Given the description of an element on the screen output the (x, y) to click on. 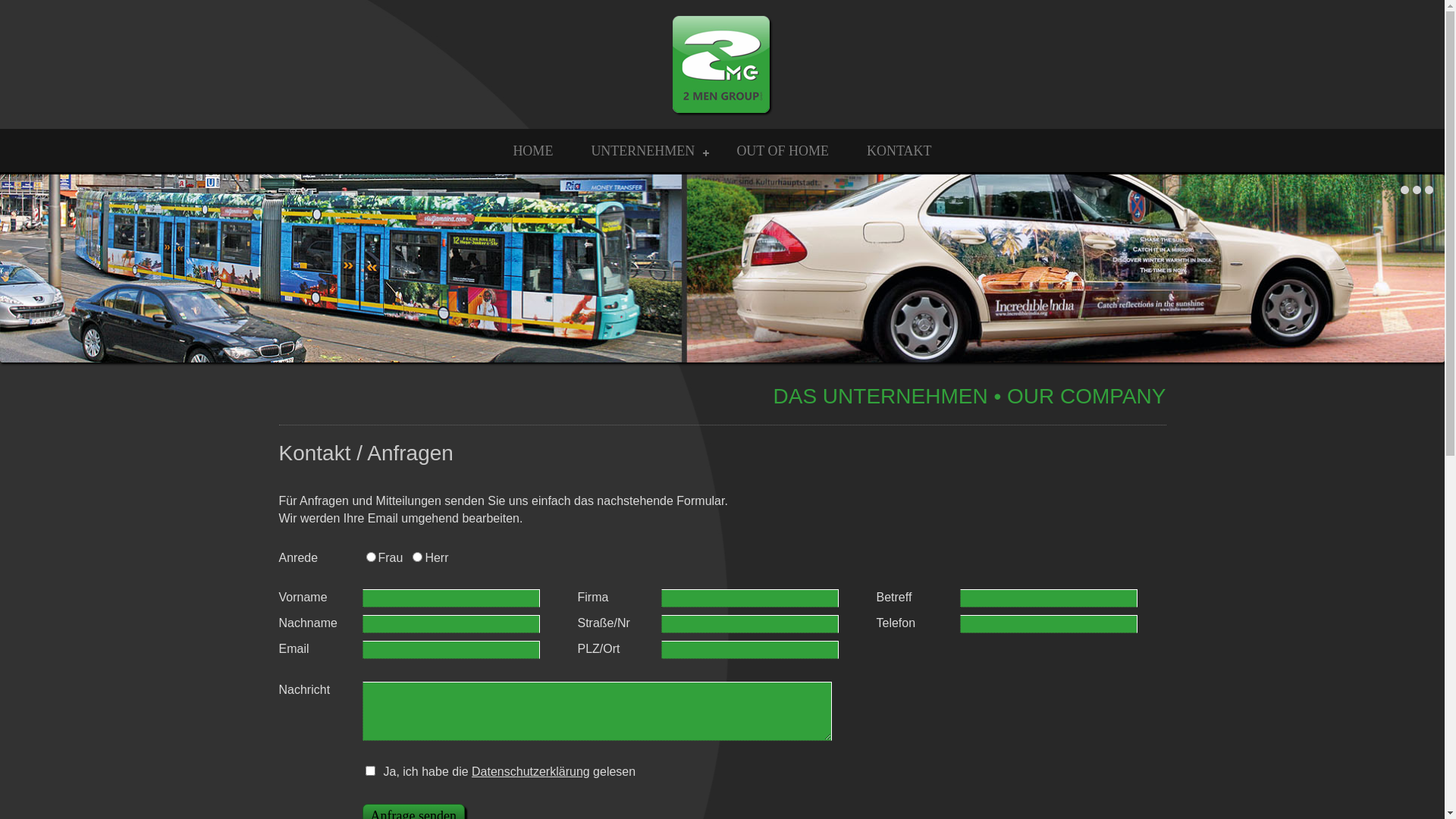
UNTERNEHMEN Element type: text (644, 150)
3 Element type: text (1428, 189)
2 Element type: text (1416, 189)
1 Element type: text (1404, 189)
  Element type: hover (722, 268)
KONTAKT Element type: text (898, 150)
OUT OF HOME Element type: text (782, 150)
HOME Element type: text (532, 150)
